Given the description of an element on the screen output the (x, y) to click on. 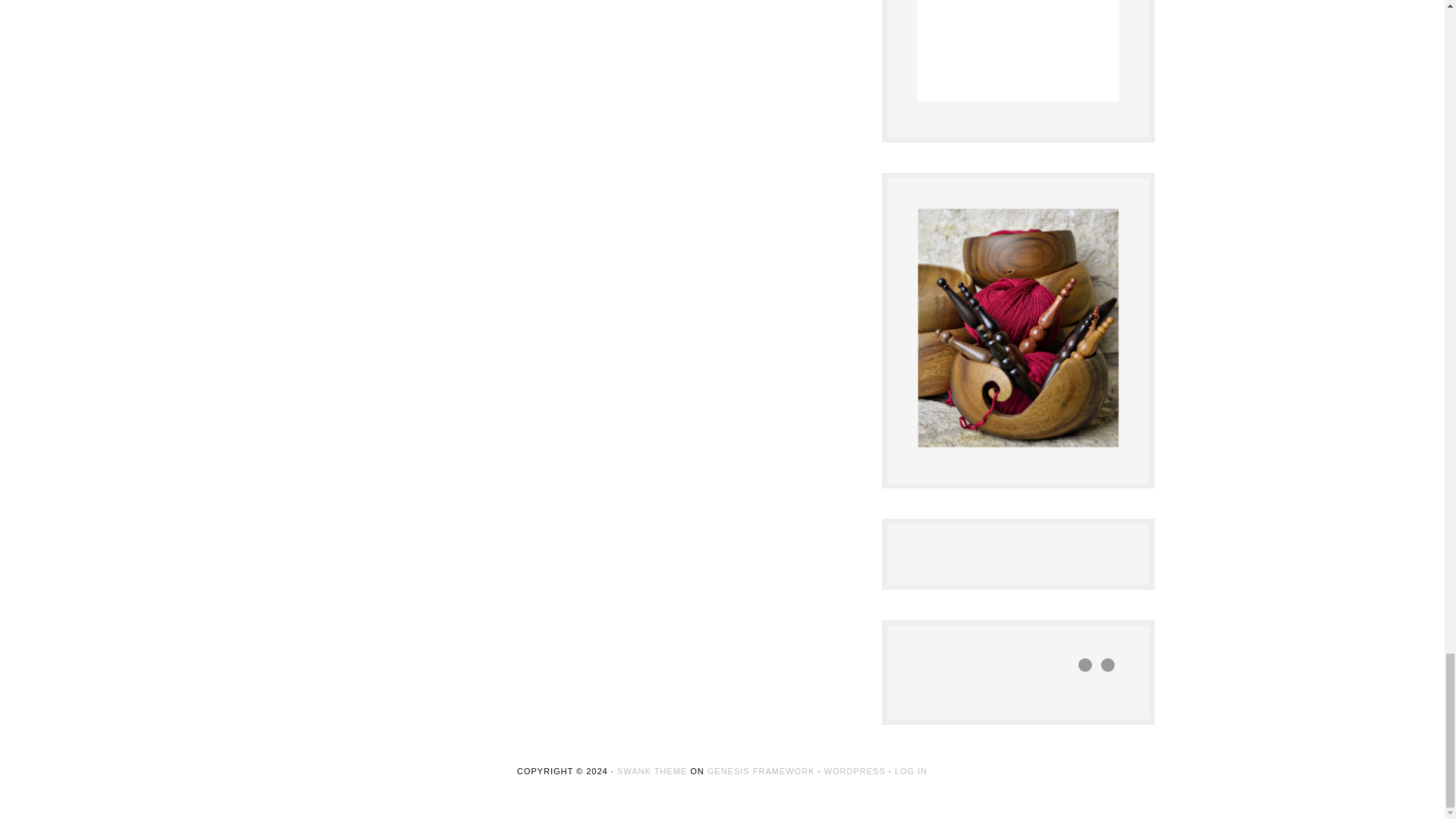
WORDPRESS (854, 770)
LOG IN (911, 770)
SWANK THEME (652, 770)
GENESIS FRAMEWORK (761, 770)
